Given the description of an element on the screen output the (x, y) to click on. 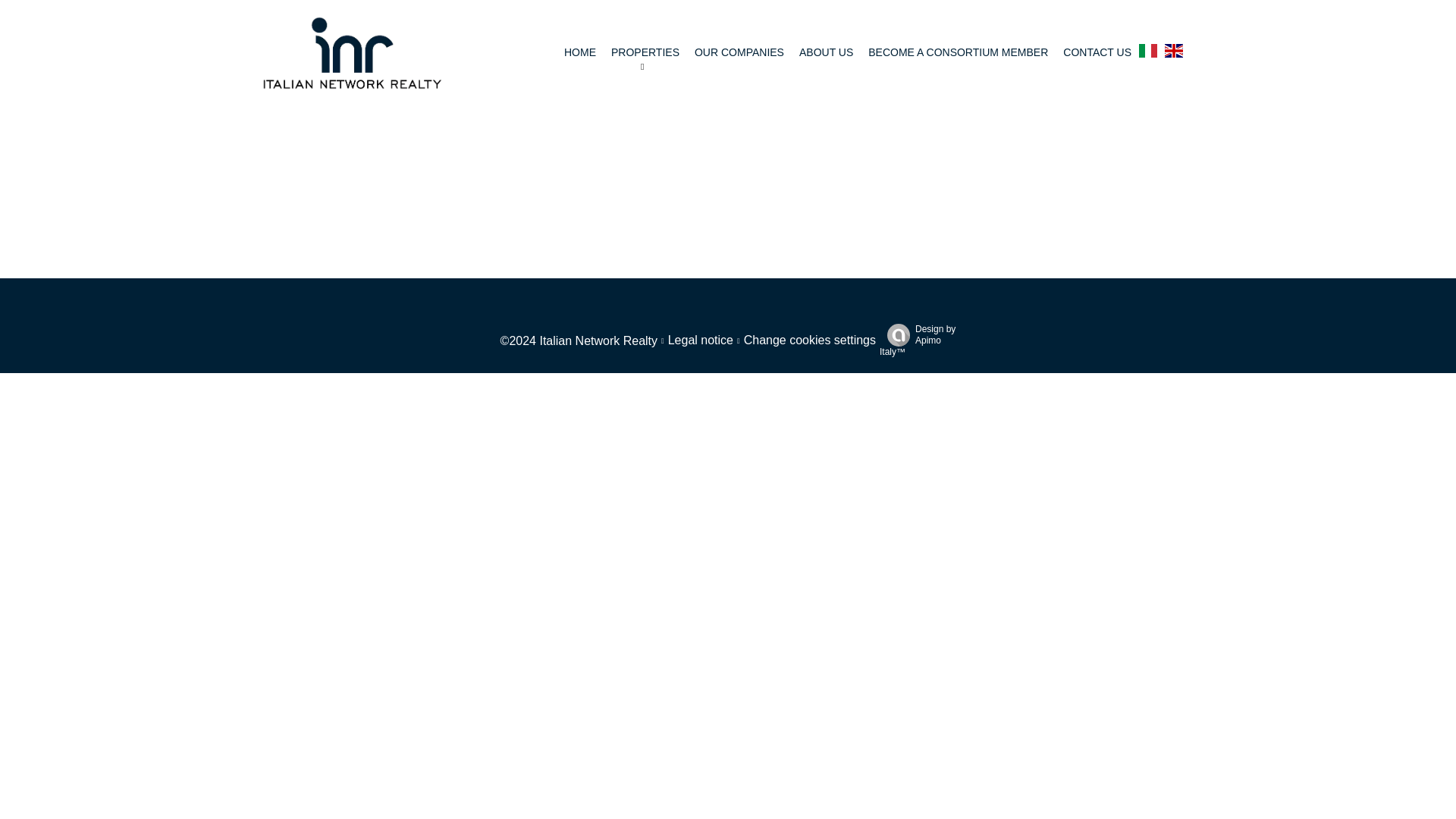
ABOUT US (826, 51)
OUR COMPANIES (739, 51)
HOME (579, 51)
CONTACT US (1096, 51)
PROPERTIES (645, 51)
BECOME A CONSORTIUM MEMBER (957, 51)
